Given the description of an element on the screen output the (x, y) to click on. 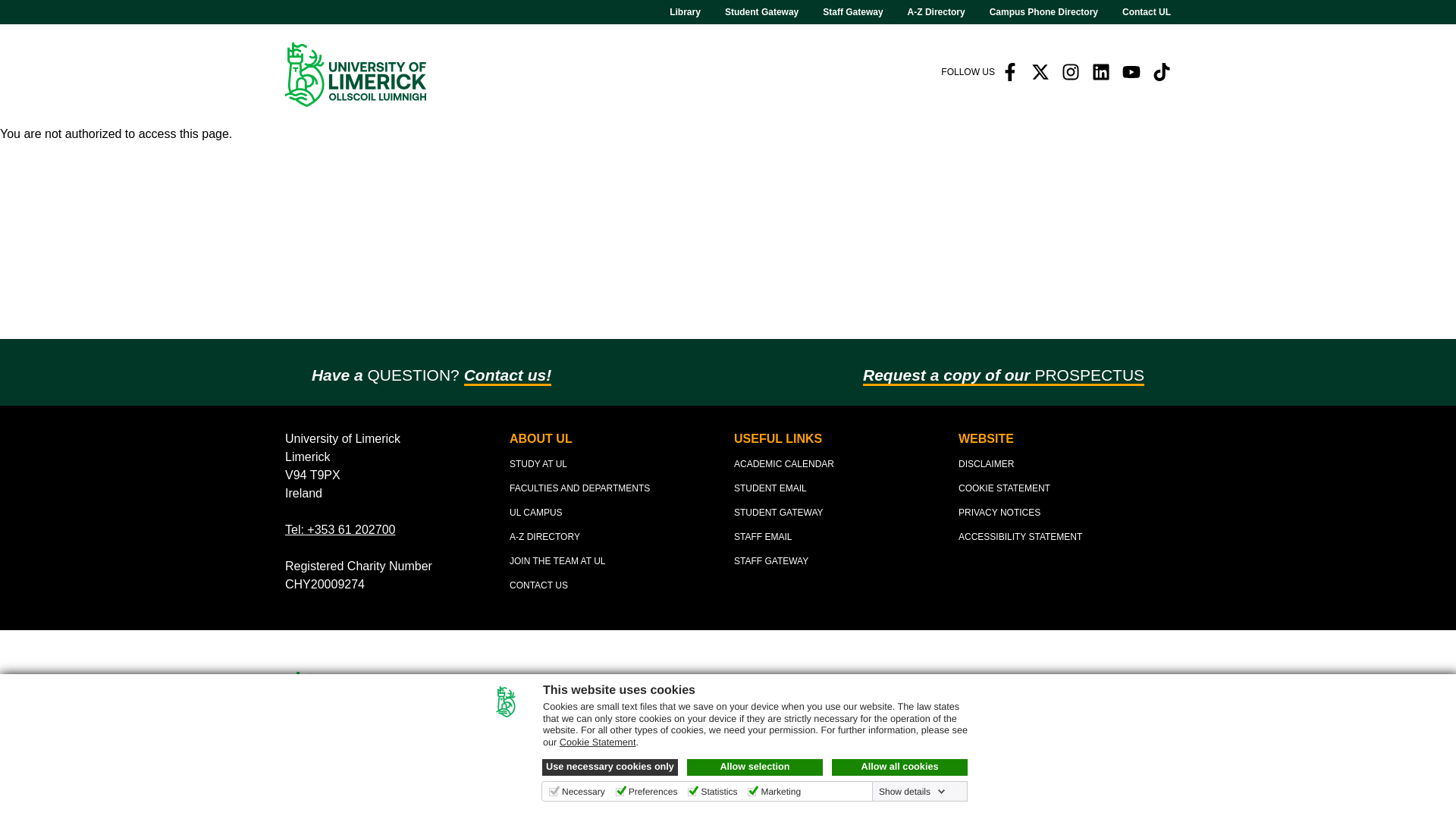
Cookie Statement (597, 742)
Allow selection (754, 767)
Use necessary cookies only (609, 767)
Show details (912, 791)
Allow all cookies (899, 767)
Cookie Statement (597, 742)
